Given the description of an element on the screen output the (x, y) to click on. 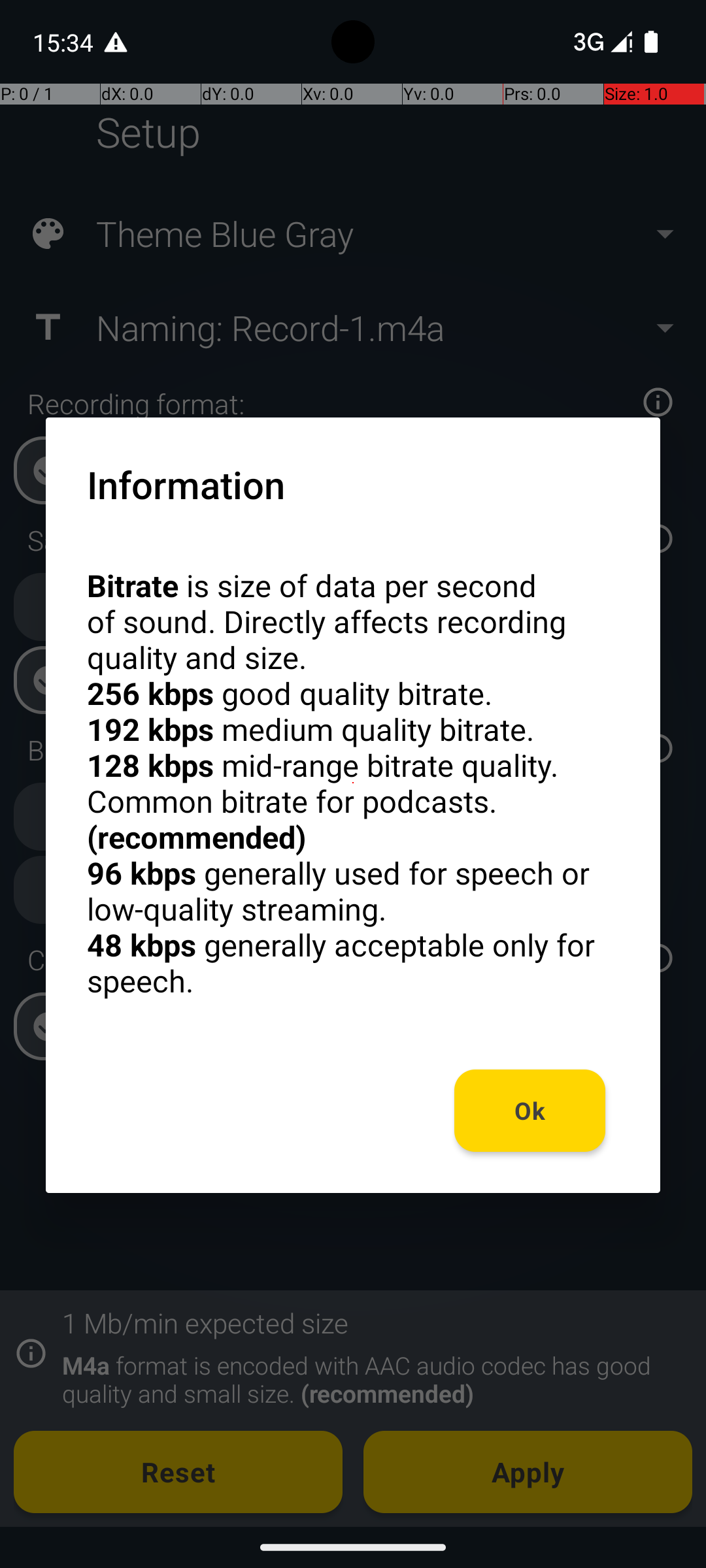
Information Element type: android.widget.TextView (185, 483)
Bitrate is size of data per second of sound. Directly affects recording quality and size. 
256 kbps good quality bitrate. 
192 kbps medium quality bitrate. 
128 kbps mid-range bitrate quality. Common bitrate for podcasts. (recommended) 
96 kbps generally used for speech or low-quality streaming. 
48 kbps generally acceptable only for speech.  Element type: android.widget.TextView (352, 782)
Ok Element type: android.widget.Button (529, 1110)
